Given the description of an element on the screen output the (x, y) to click on. 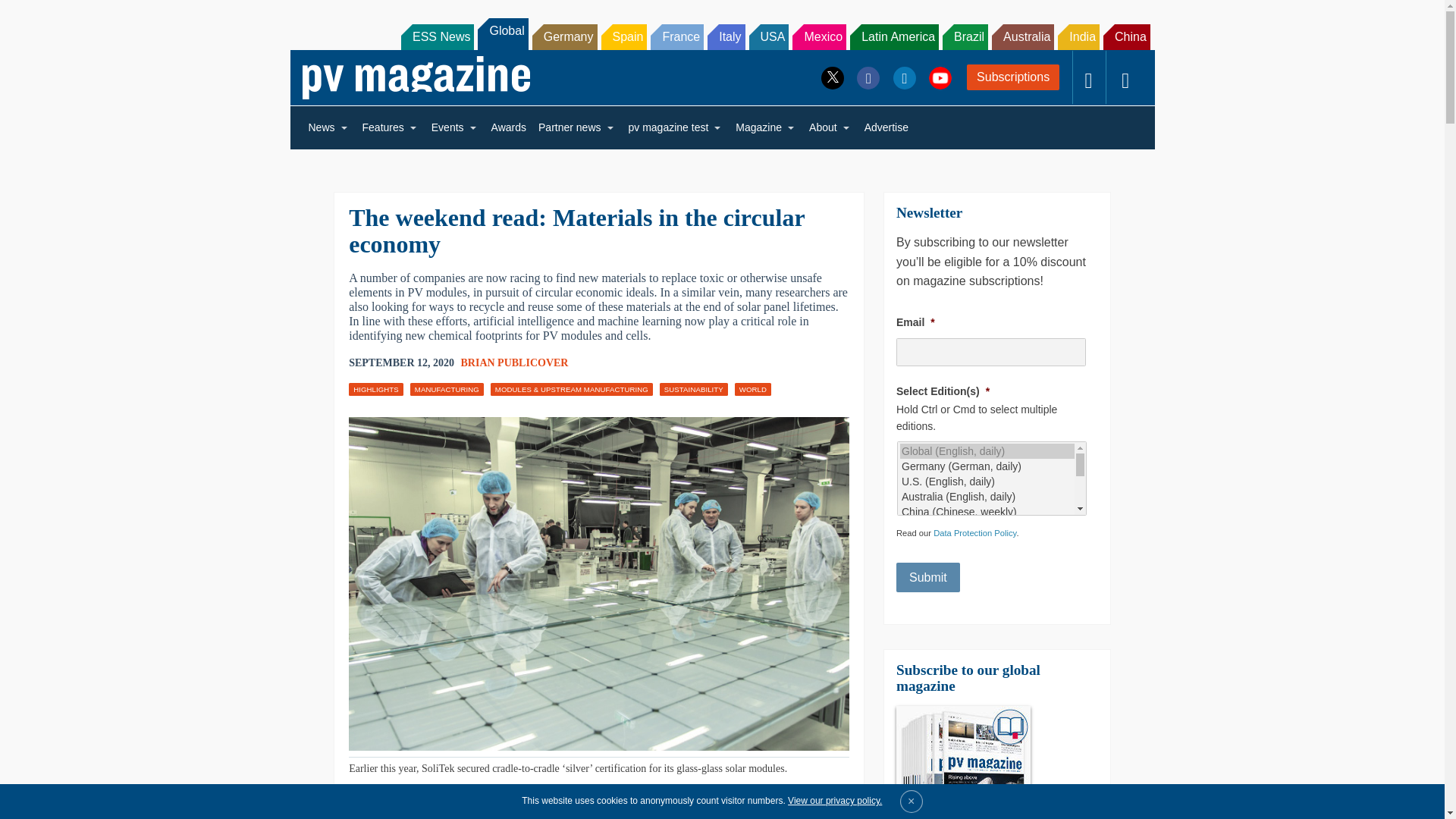
China (1126, 36)
ESS News (437, 36)
Posts by Brian Publicover (515, 362)
Submit (927, 577)
Australia (1022, 36)
pv magazine - Photovoltaics Markets and Technology (415, 77)
Spain (622, 36)
France (676, 36)
Subscriptions (1012, 77)
Italy (725, 36)
